Given the description of an element on the screen output the (x, y) to click on. 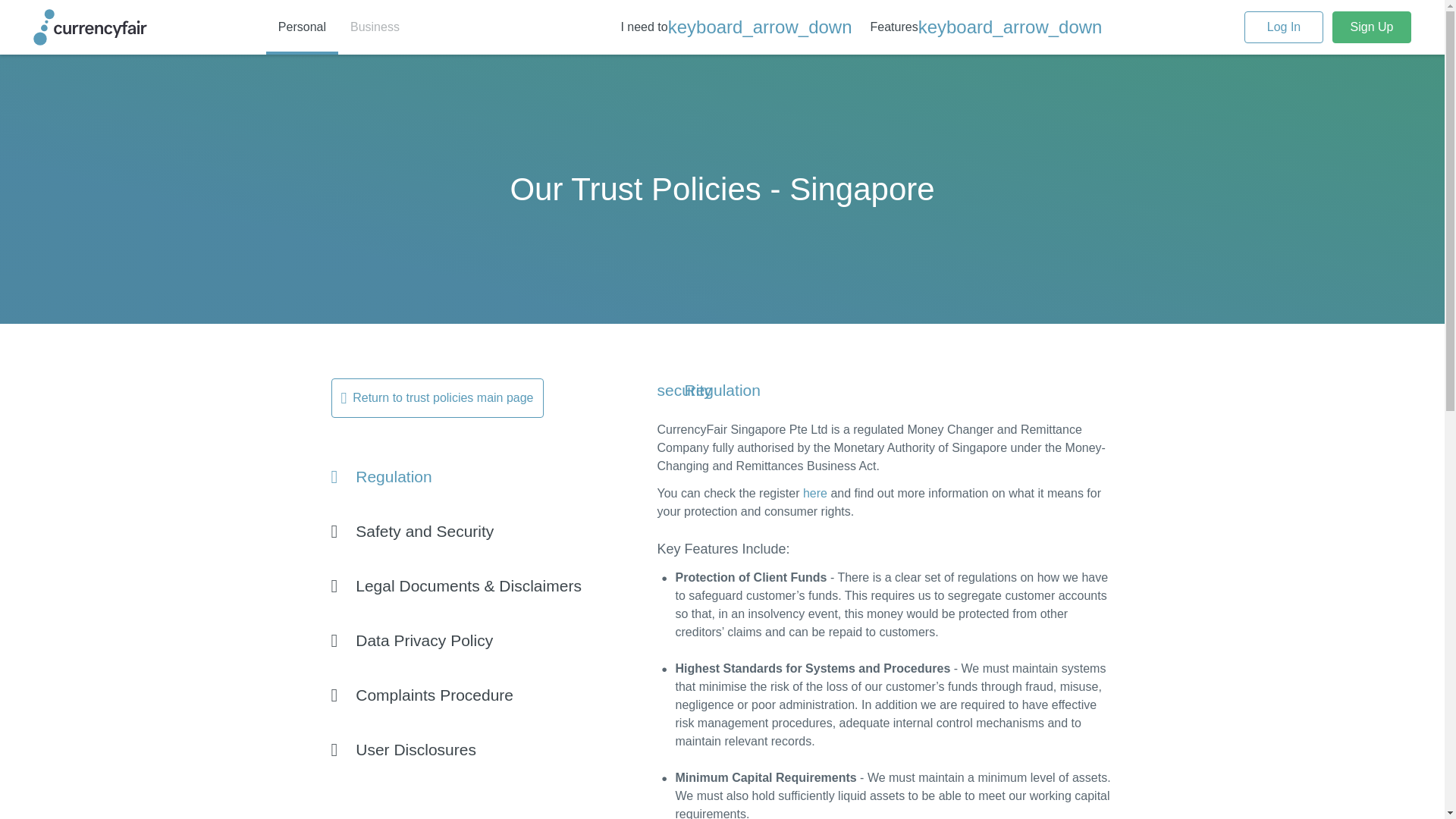
Business (374, 26)
Data Privacy Policy (493, 639)
Regulation (493, 475)
Personal (302, 26)
here (815, 493)
Sign Up (1371, 27)
Safety and Security (493, 530)
Log In (1283, 27)
Complaints Procedure (493, 694)
Return to trust policies main page (436, 397)
User Disclosures (493, 748)
